Given the description of an element on the screen output the (x, y) to click on. 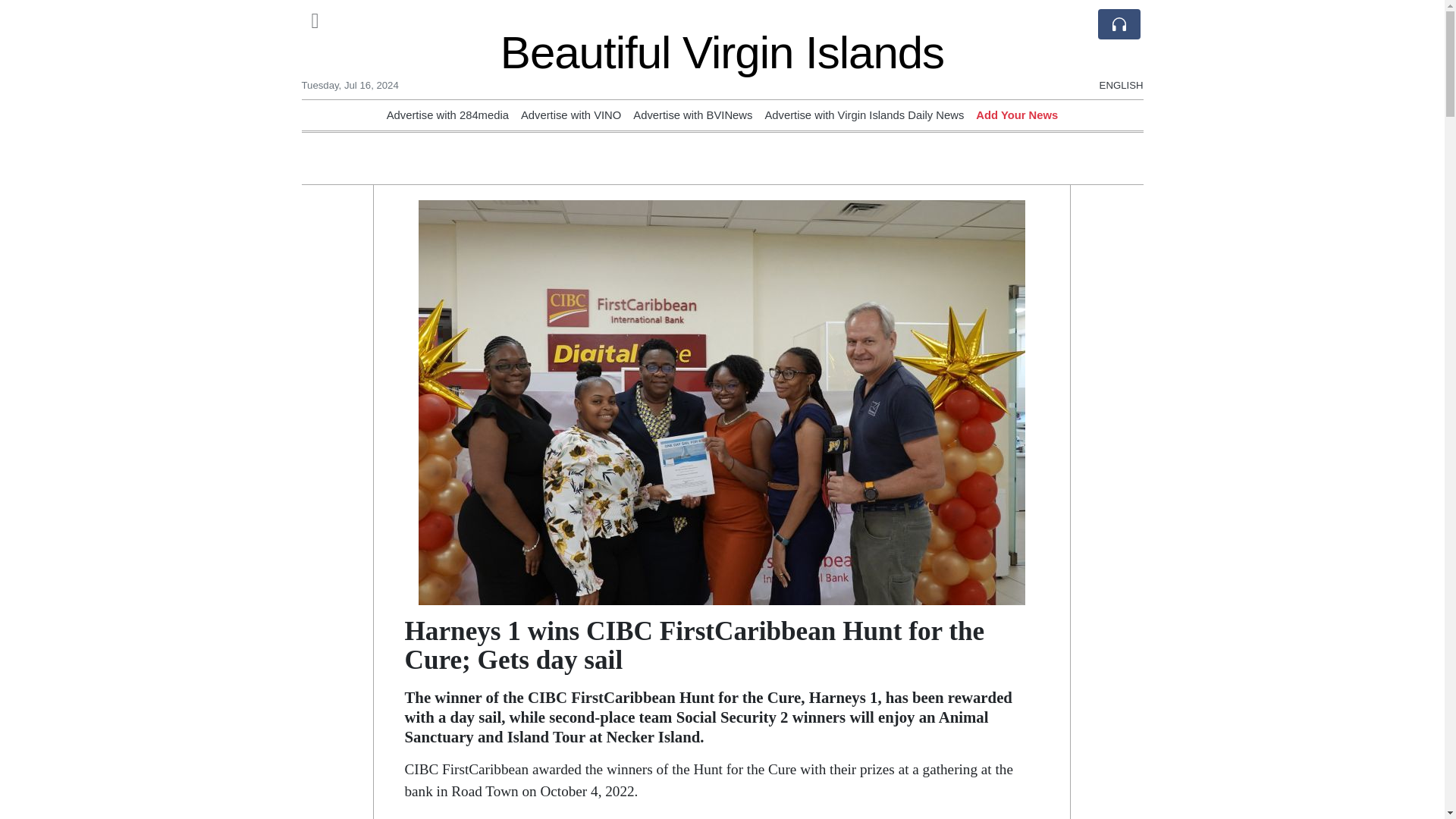
Advertise with VINO (571, 114)
Add Your News (1016, 114)
Advertise with BVINews (692, 114)
Advertise with Virgin Islands Daily News (863, 114)
ENGLISH (1120, 20)
Advertise with 284media (447, 114)
Beautiful Virgin Islands (721, 52)
